Given the description of an element on the screen output the (x, y) to click on. 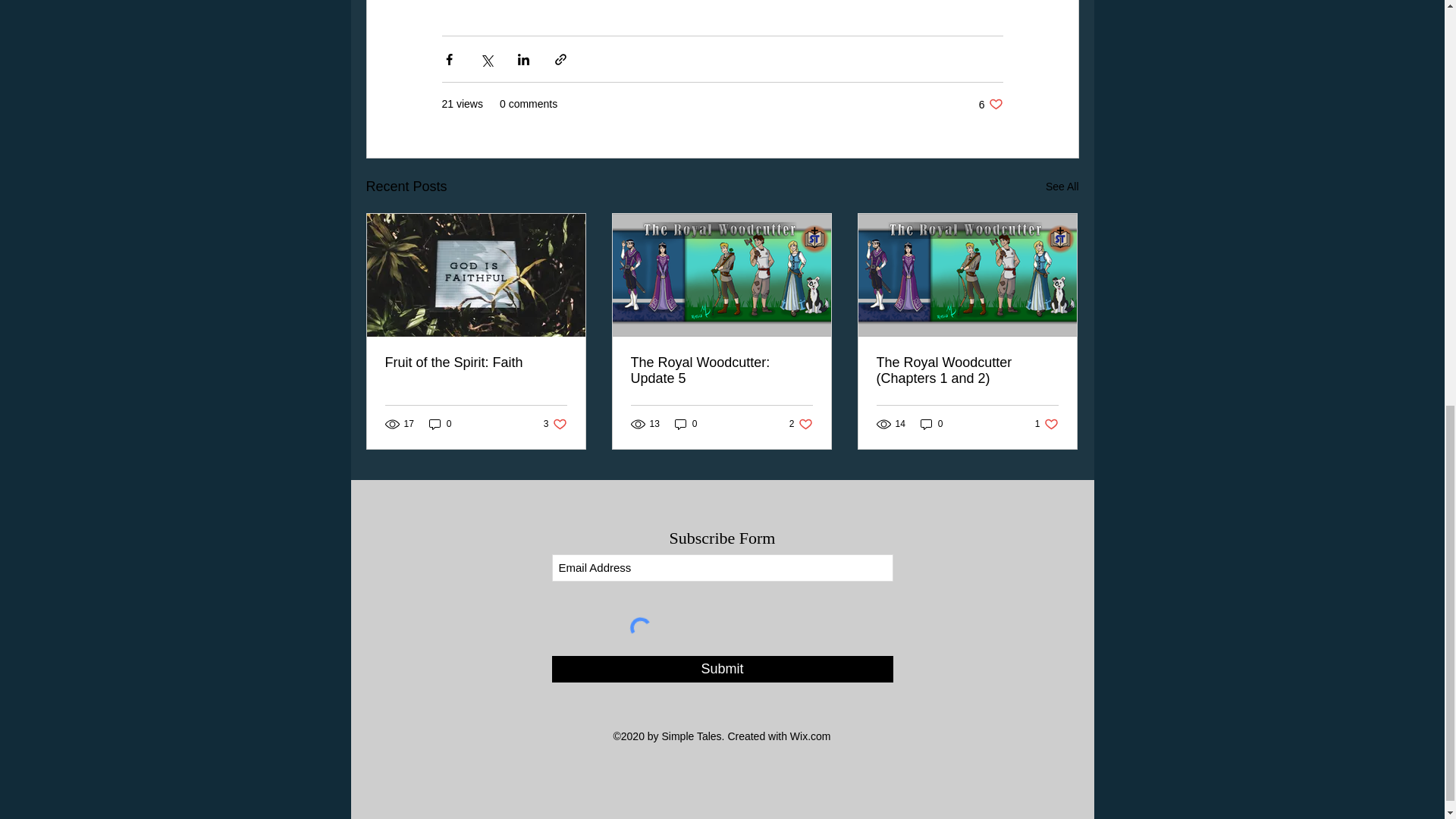
0 (800, 423)
0 (685, 423)
See All (440, 423)
0 (990, 104)
Submit (1061, 187)
Fruit of the Spirit: Faith (555, 423)
The Royal Woodcutter: Update 5 (931, 423)
